Given the description of an element on the screen output the (x, y) to click on. 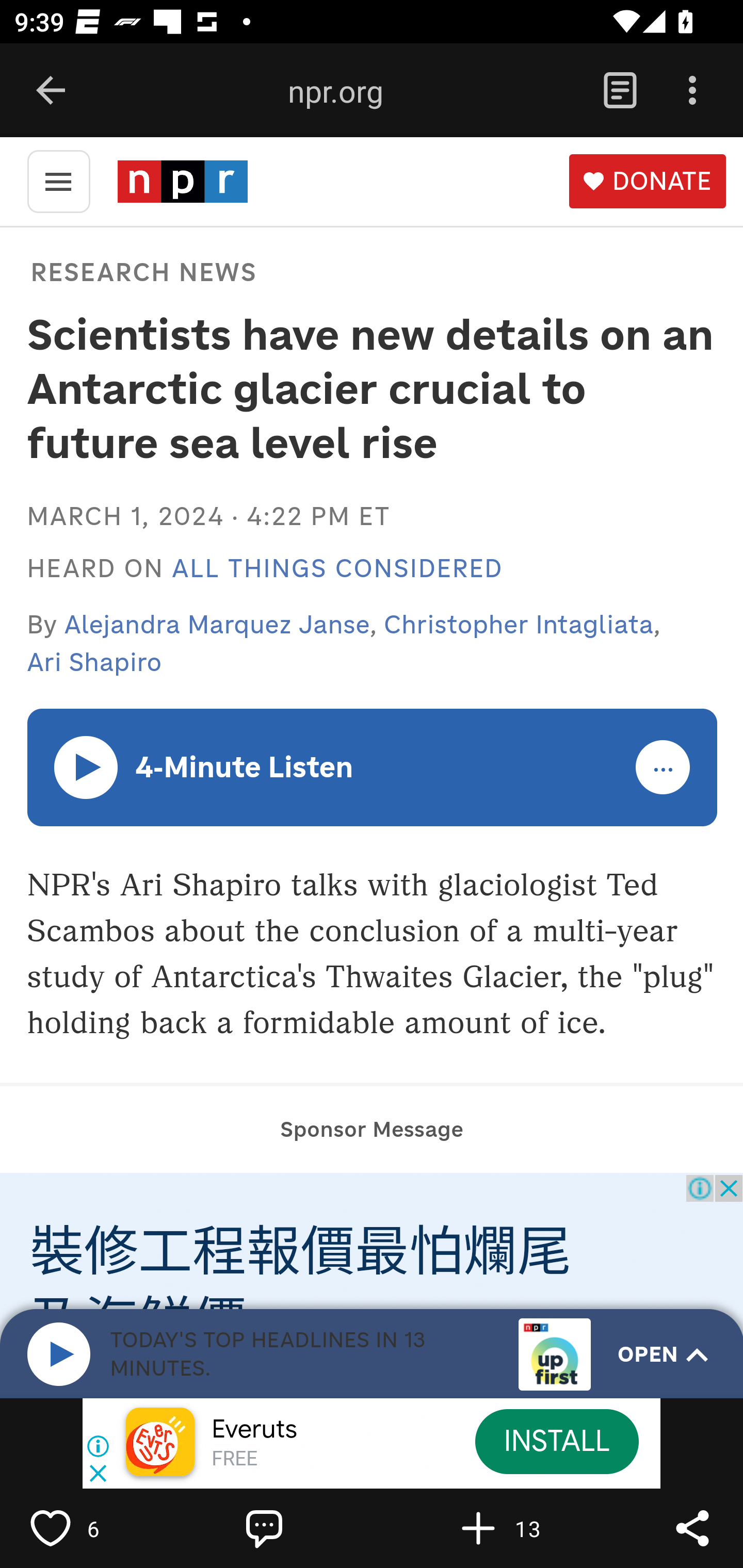
Back (50, 90)
Reader View (619, 90)
Options (692, 90)
Open Navigation Menu (58, 180)
DONATE (646, 181)
NPR logo (181, 180)
RESEARCH NEWS RESEARCH NEWS RESEARCH NEWS (141, 271)
MARCH 1, 2024 · 4:22 PM ET (208, 515)
ALL THINGS CONSIDERED (337, 568)
Alejandra Marquez Janse (217, 623)
Christopher Intagliata (518, 623)
Ari Shapiro (93, 662)
LISTEN· 4:24 (86, 766)
Toggle more options (663, 768)
INSTALL (556, 1441)
Everuts (253, 1429)
FREE (234, 1459)
Like 6 (93, 1528)
Write a comment… (307, 1528)
Flip into Magazine 13 (521, 1528)
Share (692, 1528)
